Given the description of an element on the screen output the (x, y) to click on. 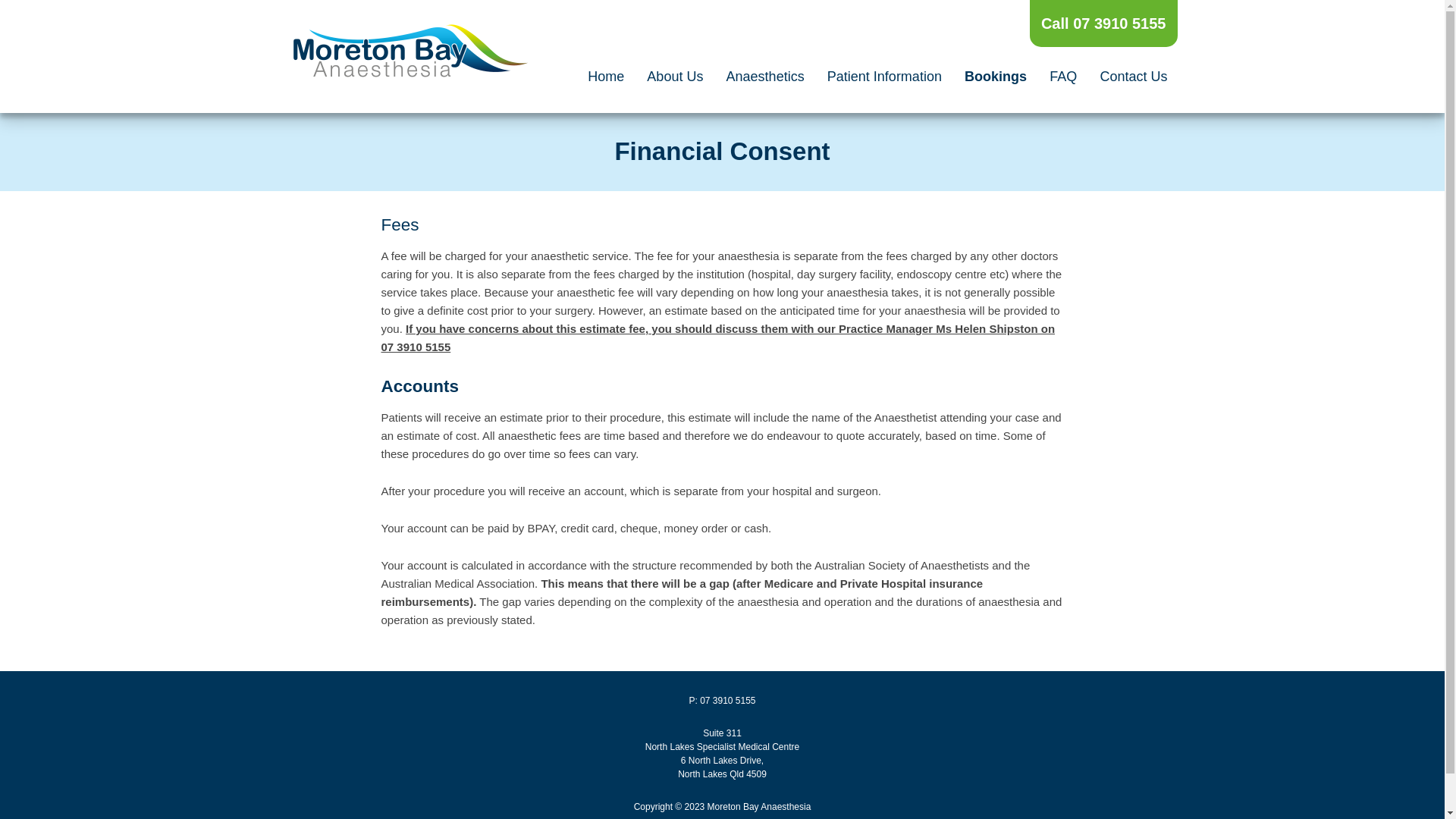
Bookings Element type: text (995, 76)
Patient Information Element type: text (884, 76)
Anaesthetics Element type: text (765, 76)
FAQ Element type: text (1062, 76)
Call 07 3910 5155 Element type: text (1103, 23)
Home Element type: text (605, 76)
About Us Element type: text (674, 76)
Contact Us Element type: text (1132, 76)
